Given the description of an element on the screen output the (x, y) to click on. 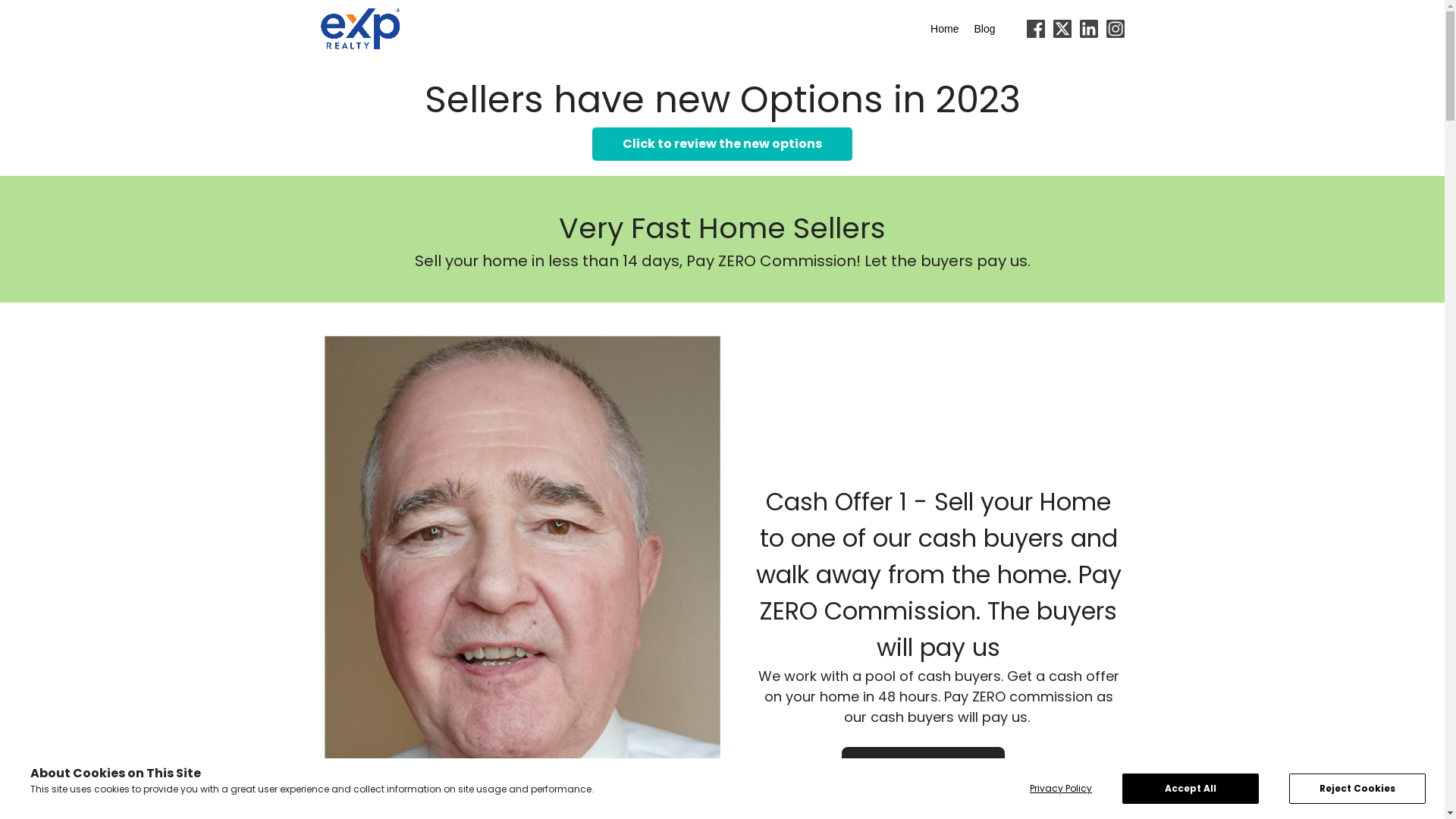
Privacy Policy Element type: text (1060, 788)
Reject Cookies Element type: text (1357, 788)
Click to review the new options Element type: text (722, 143)
Click for a cash offer now Element type: text (922, 767)
Blog Element type: text (983, 29)
Home Element type: text (944, 29)
Accept All Element type: text (1190, 788)
